Given the description of an element on the screen output the (x, y) to click on. 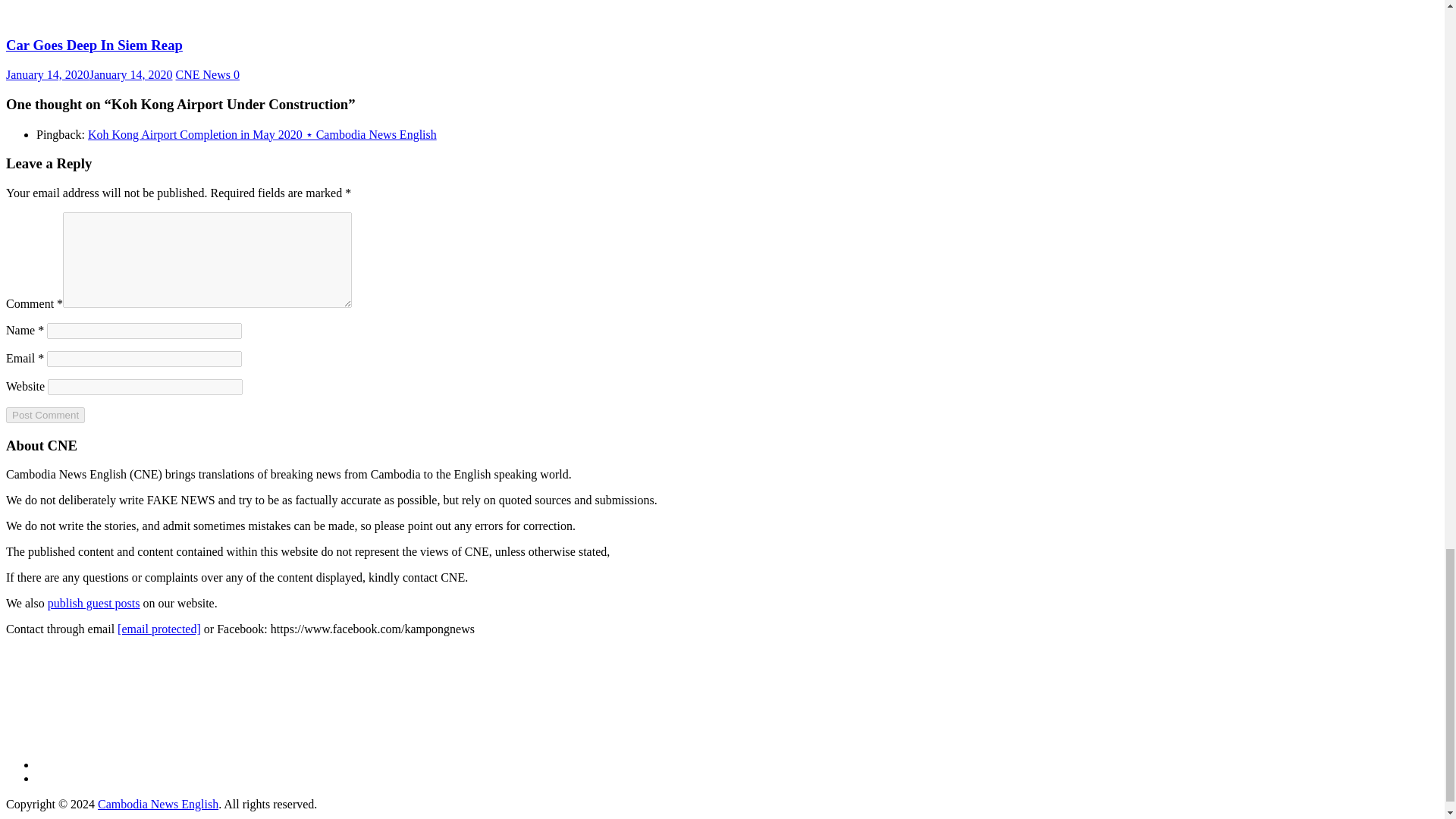
Post Comment (44, 415)
